Given the description of an element on the screen output the (x, y) to click on. 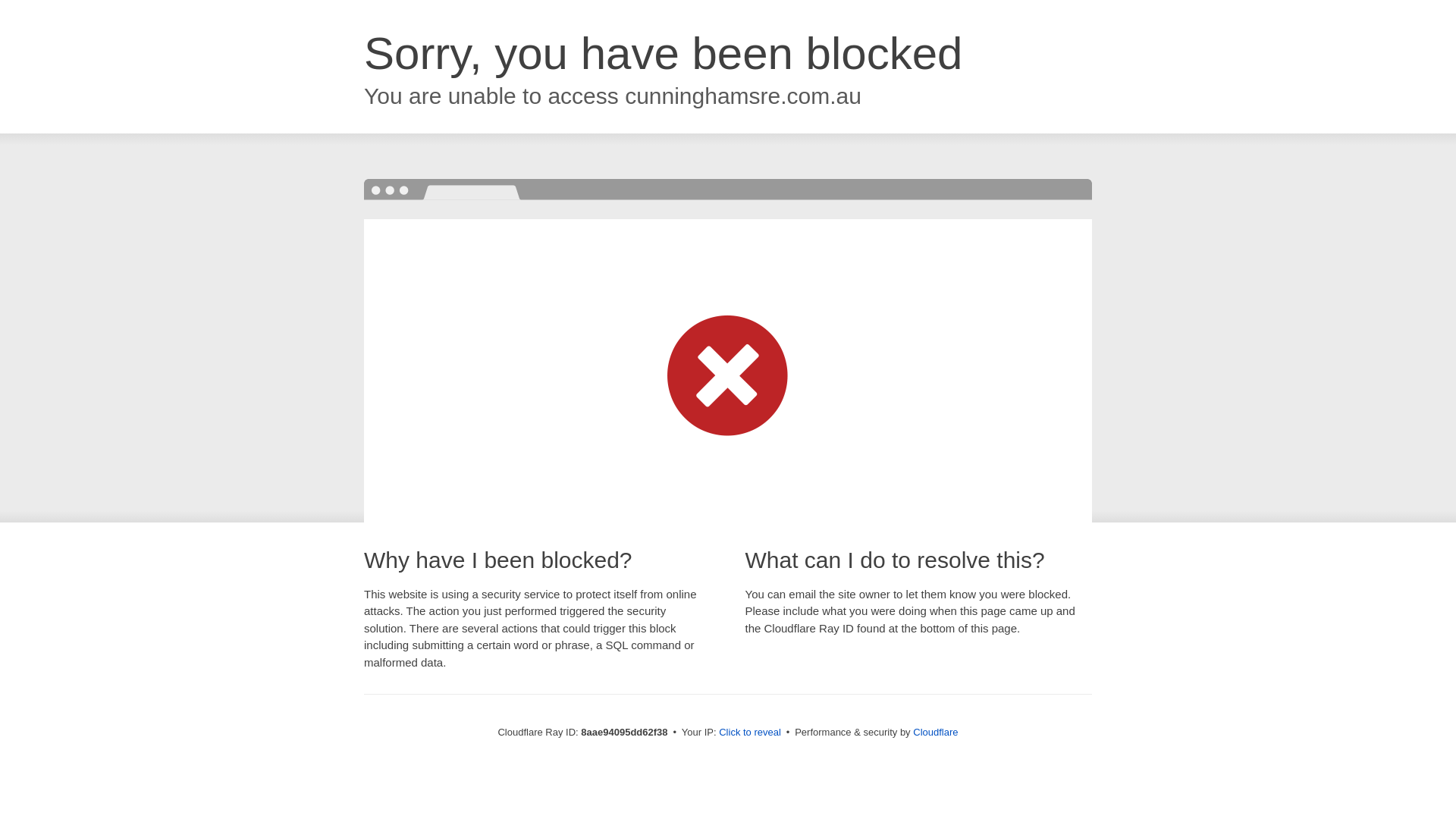
Click to reveal (749, 732)
Cloudflare (935, 731)
